Given the description of an element on the screen output the (x, y) to click on. 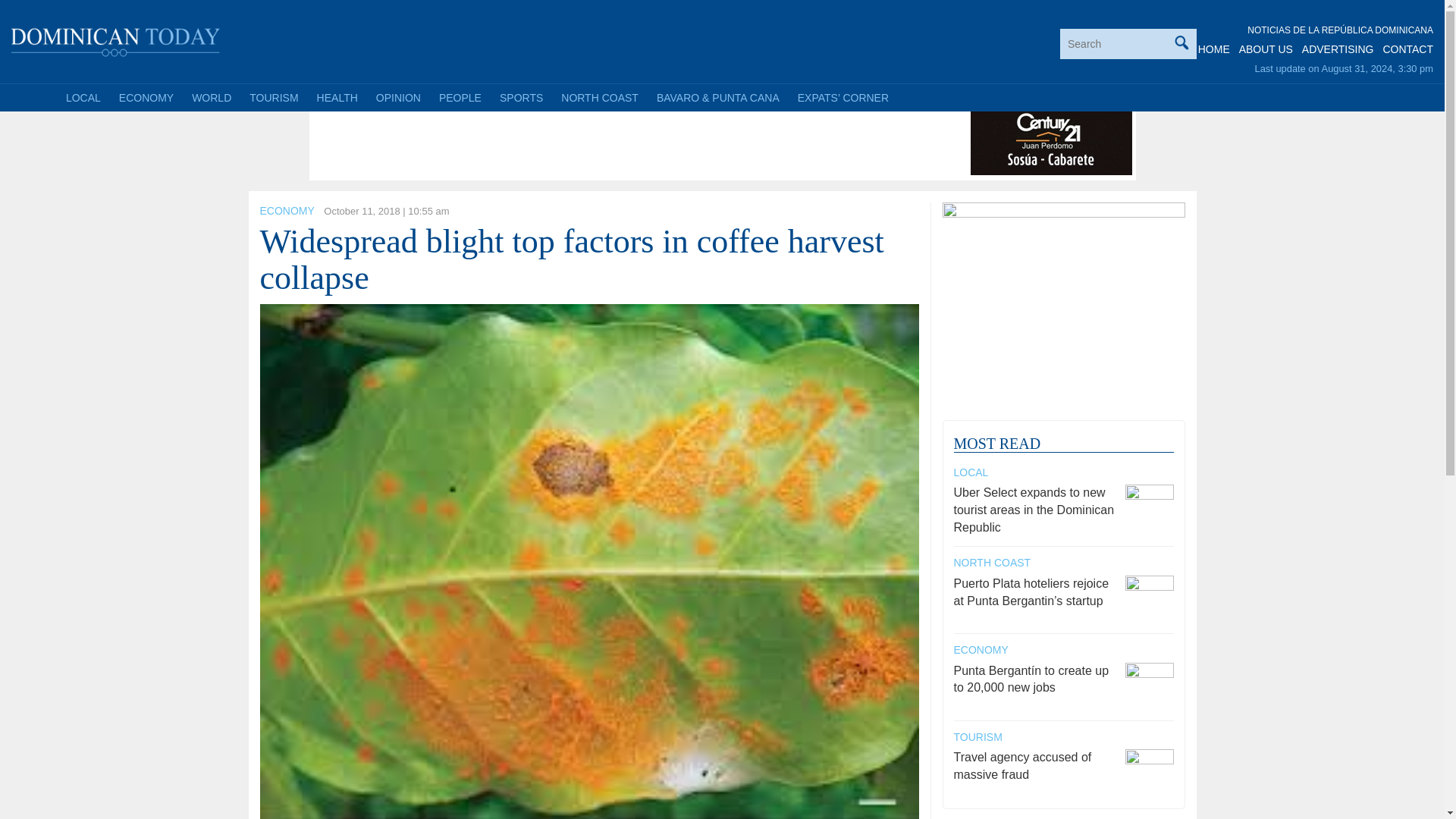
WORLD (211, 97)
CONTACT (1406, 49)
HOME (1214, 49)
ECONOMY (286, 210)
LOCAL (83, 97)
ECONOMY (146, 97)
ADVERTISING (1337, 49)
SPORTS (520, 97)
PEOPLE (459, 97)
